Given the description of an element on the screen output the (x, y) to click on. 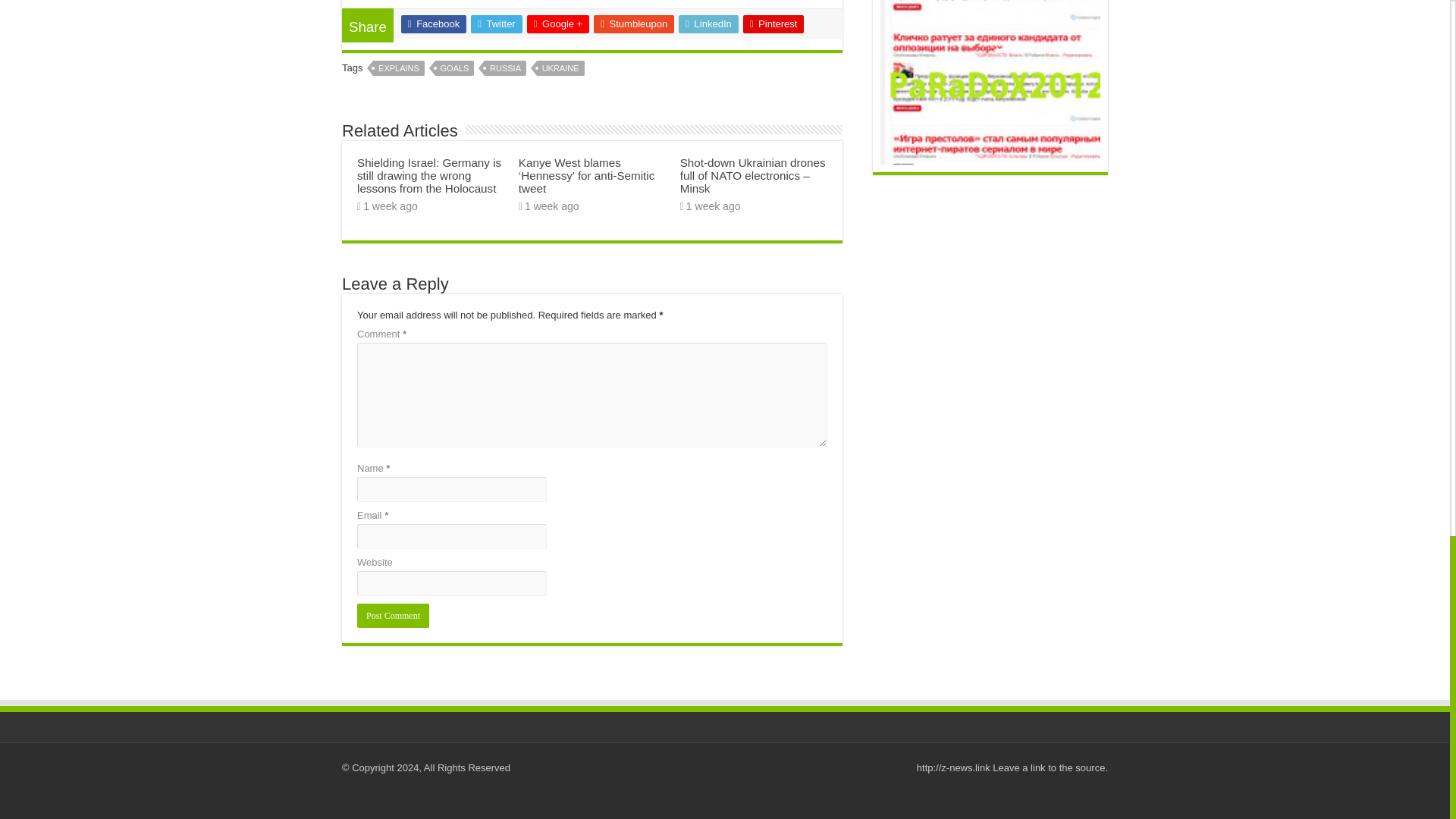
Stumbleupon (634, 24)
Pinterest (773, 24)
Post Comment (392, 615)
RUSSIA (504, 68)
Facebook (433, 24)
LinkedIn (708, 24)
UKRAINE (561, 68)
GOALS (454, 68)
EXPLAINS (398, 68)
Twitter (495, 24)
